Given the description of an element on the screen output the (x, y) to click on. 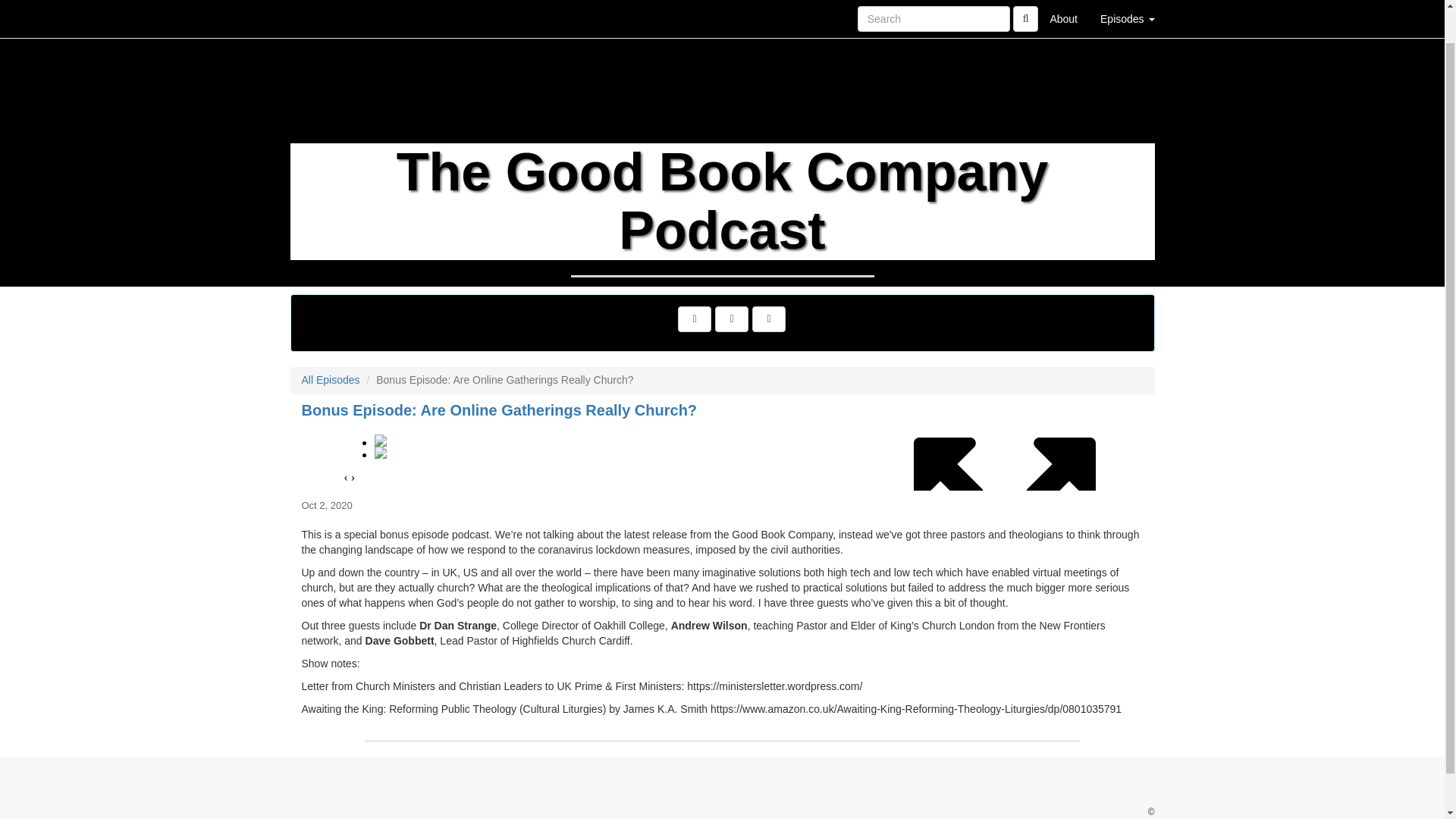
About (1063, 1)
Episodes (1127, 1)
Home Page (320, 1)
Bonus Episode: Are Online Gatherings Really Church? (721, 456)
